Given the description of an element on the screen output the (x, y) to click on. 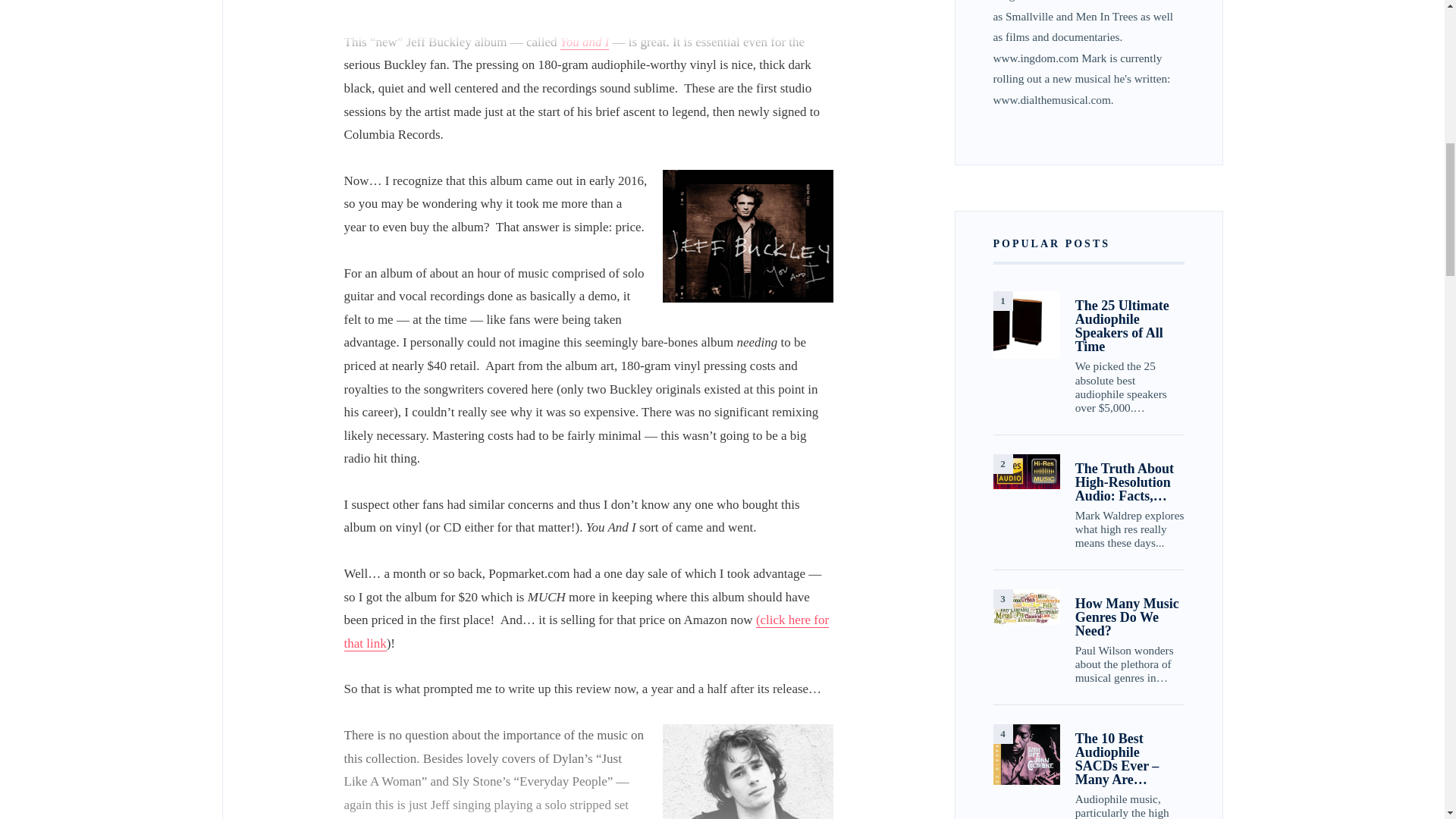
You and I (585, 42)
The 25 Ultimate Audiophile Speakers of All Time (1025, 324)
How Many Music Genres Do We Need? (1025, 606)
The 10 Best Audiophile SACDs Ever - Many Are Out Of Print (1025, 754)
